Given the description of an element on the screen output the (x, y) to click on. 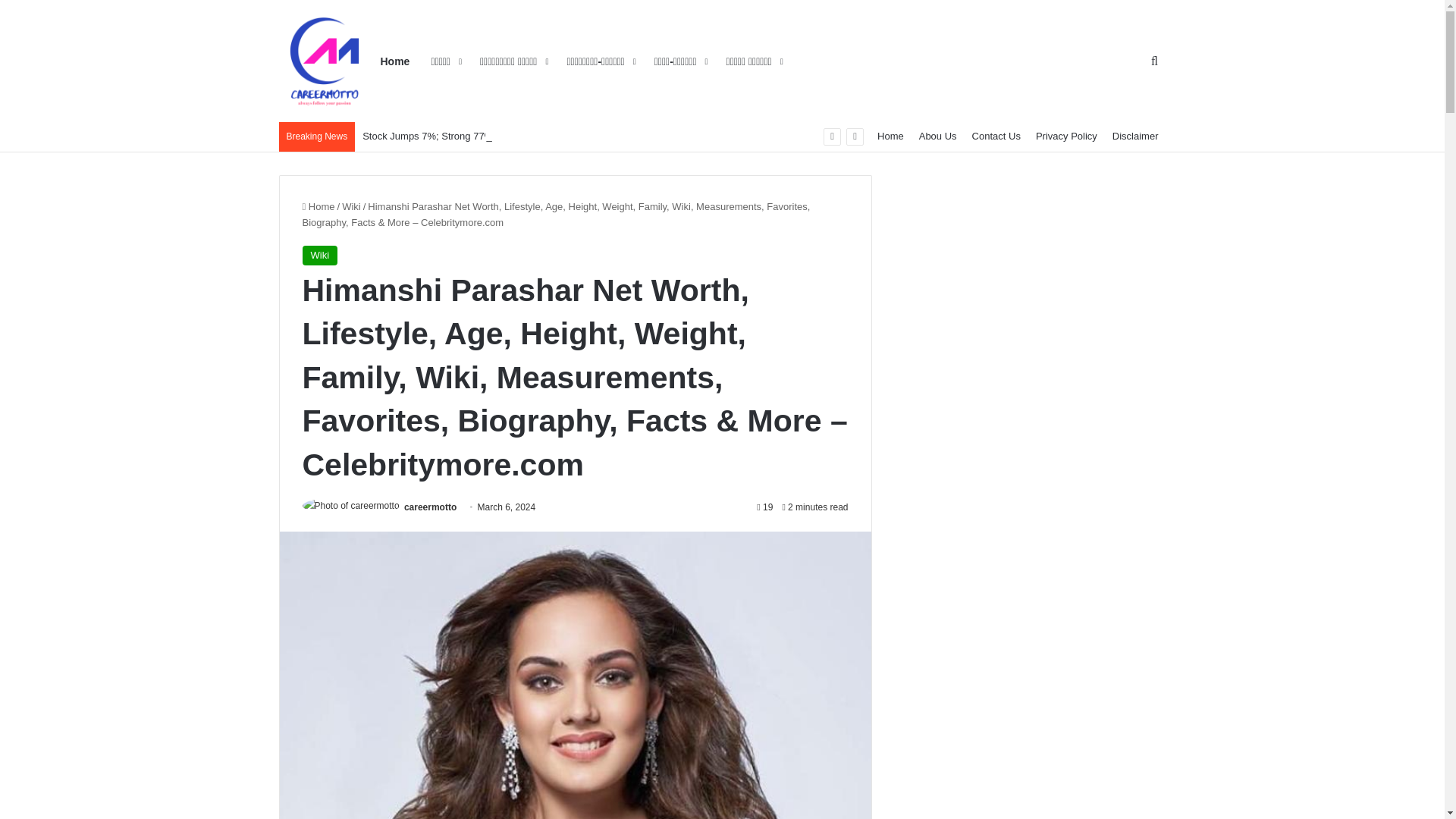
Abou Us (937, 136)
careermotto (430, 507)
Wiki (351, 206)
Wiki (319, 255)
Disclaimer (1135, 136)
careermotto (430, 507)
Career Kaise Bane (324, 61)
Contact Us (995, 136)
Home (890, 136)
Home (317, 206)
